Given the description of an element on the screen output the (x, y) to click on. 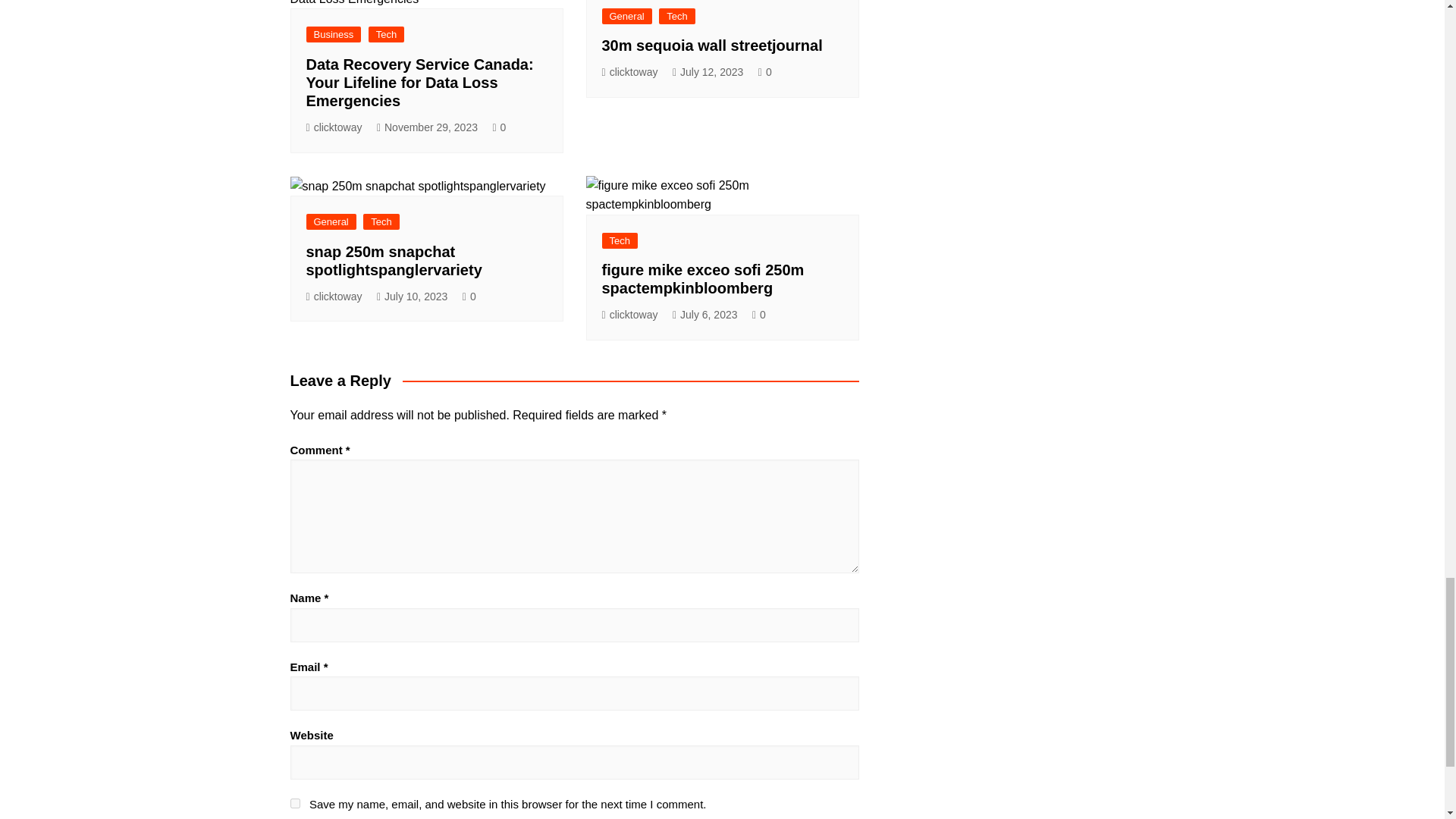
yes (294, 803)
